Given the description of an element on the screen output the (x, y) to click on. 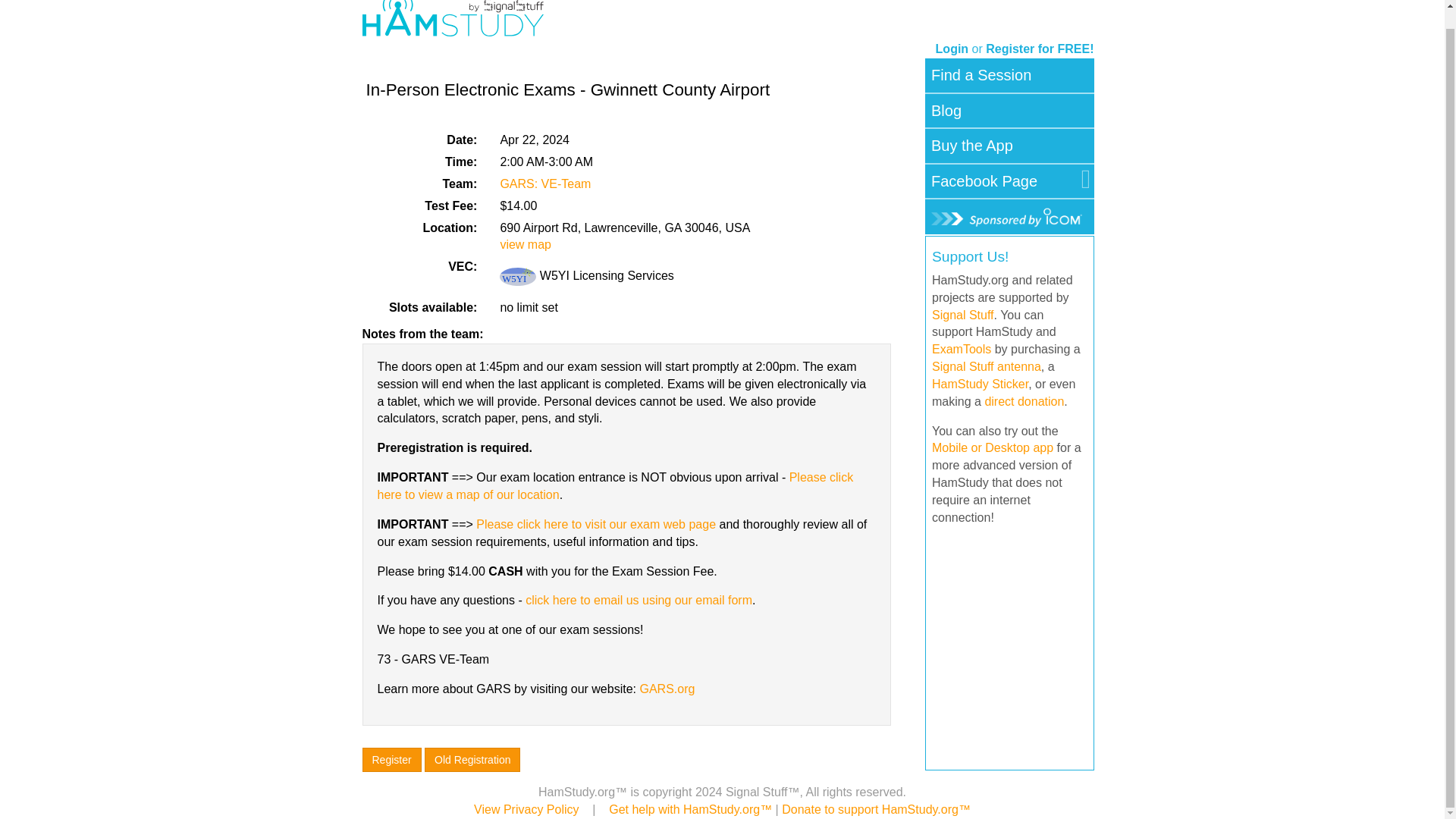
Register (392, 760)
Buy the App (971, 145)
GARS: VE-Team (545, 183)
Find a Session (980, 75)
View Privacy Policy (526, 809)
Signal Stuff (962, 314)
Please click here to view a map of our location (615, 485)
Facebook Page (983, 181)
Old Registration (472, 760)
Please click here to visit our exam web page (596, 523)
